Given the description of an element on the screen output the (x, y) to click on. 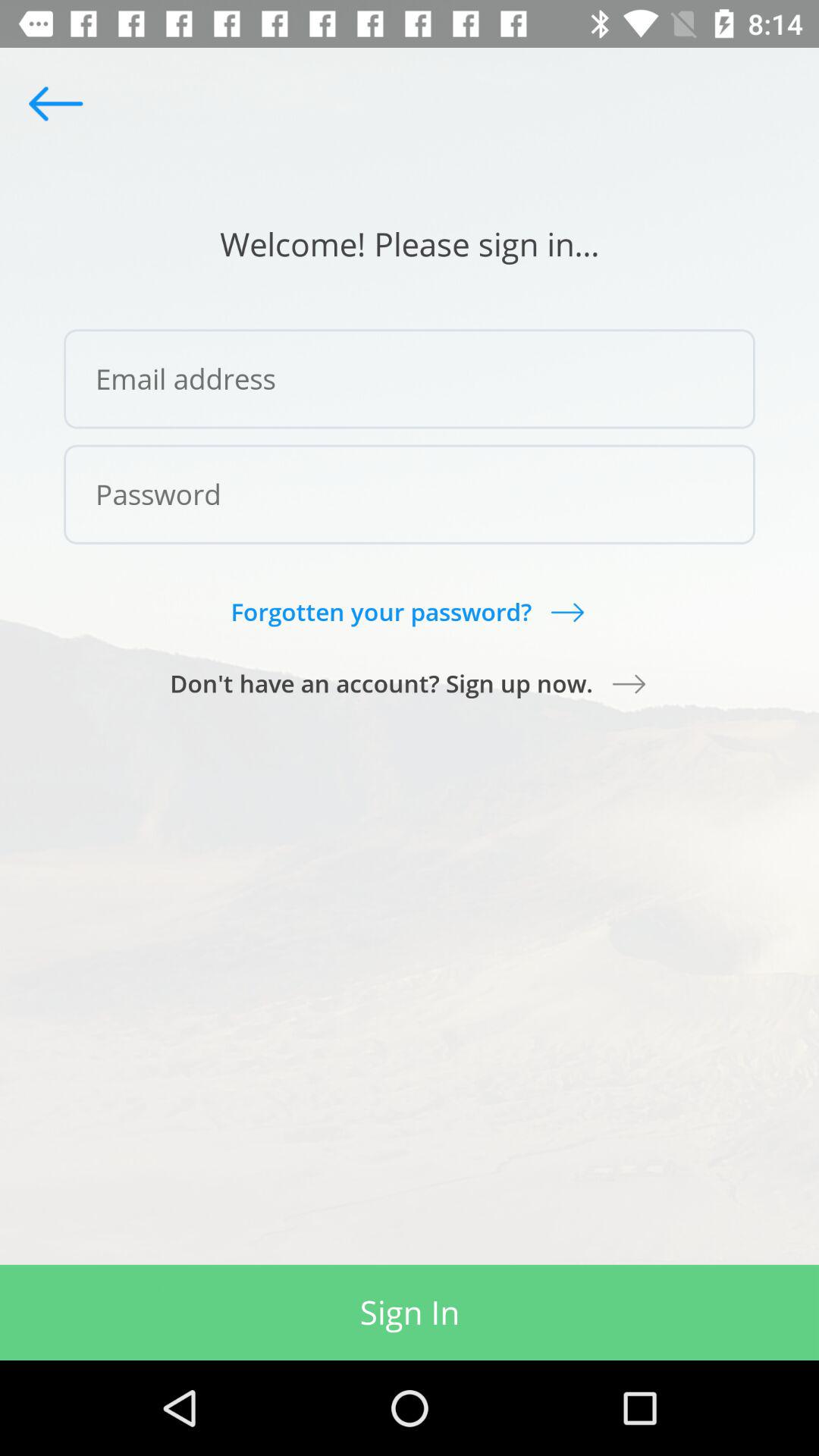
press the item above the don t have icon (408, 611)
